Given the description of an element on the screen output the (x, y) to click on. 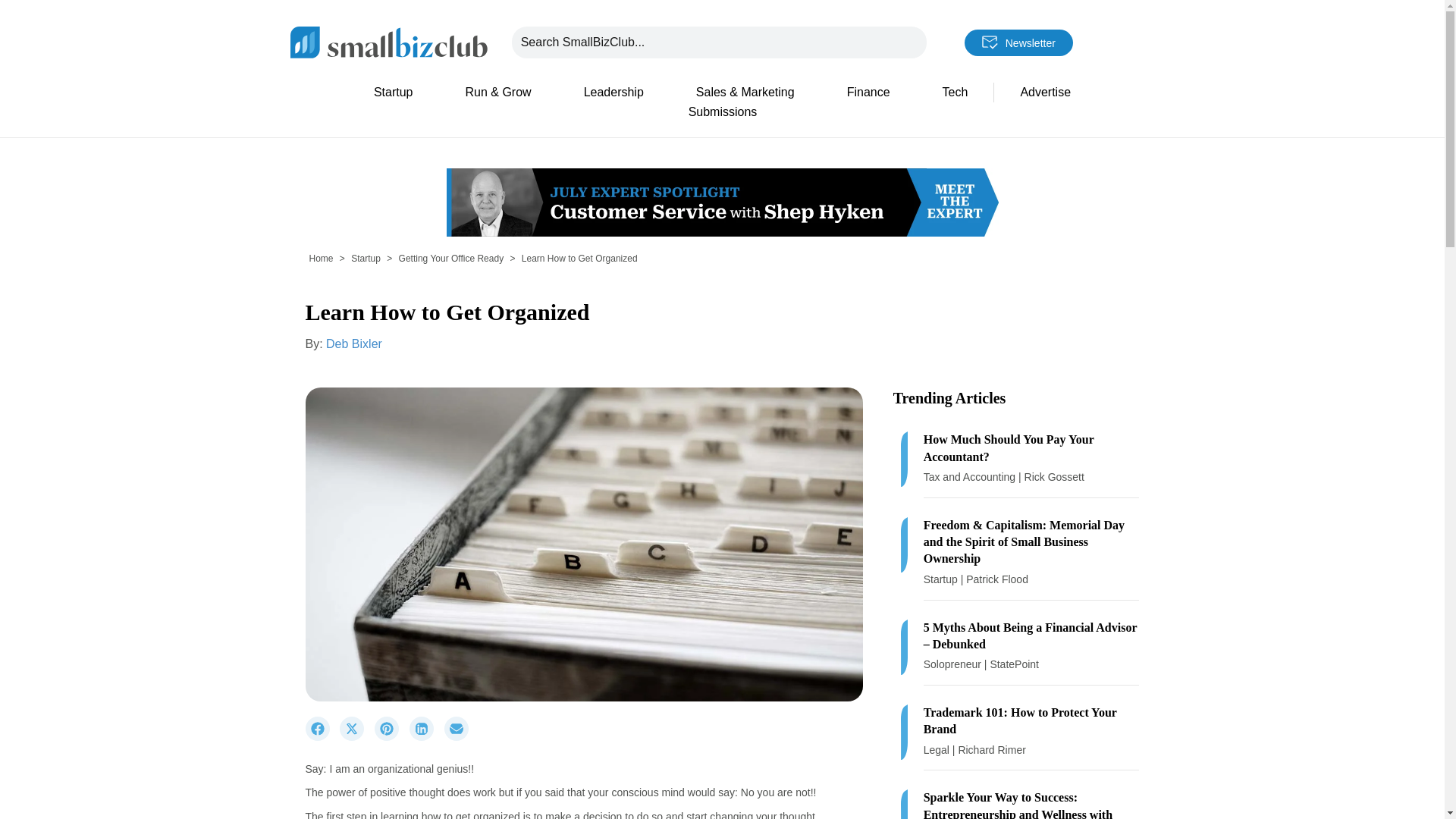
Leadership (613, 92)
SmallBizClub-Primary-Logo-2023 (387, 41)
Tech (955, 92)
Home (320, 258)
Deb Bixler (353, 343)
Share on Email (460, 736)
Startup (393, 92)
Getting Your Office Ready (450, 258)
Advertise (1045, 92)
Finance (868, 92)
Share on LinkedIn (426, 736)
Startup (365, 258)
Submissions (722, 112)
july-long (721, 202)
